Given the description of an element on the screen output the (x, y) to click on. 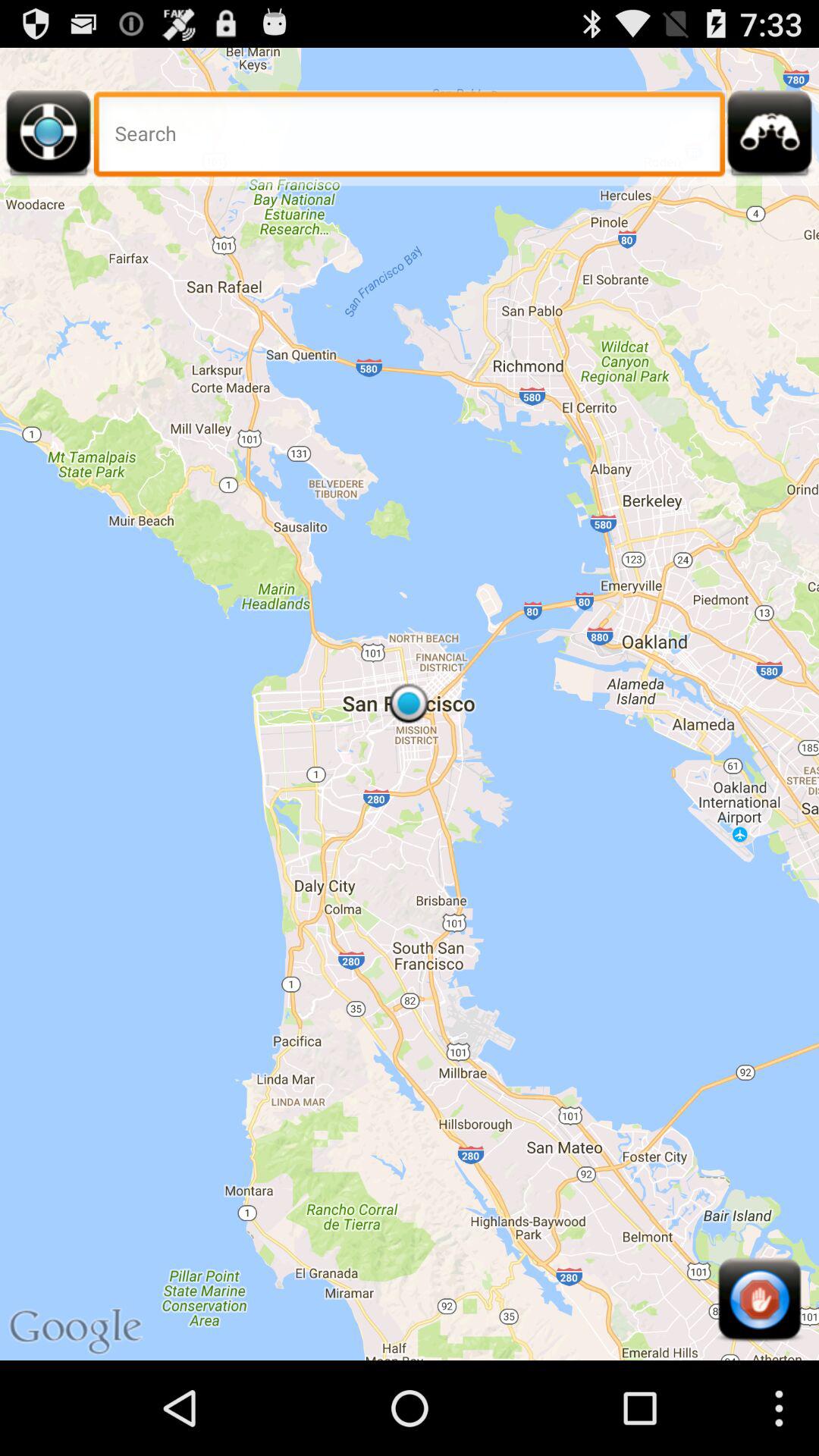
tap the item at the top (409, 137)
